Given the description of an element on the screen output the (x, y) to click on. 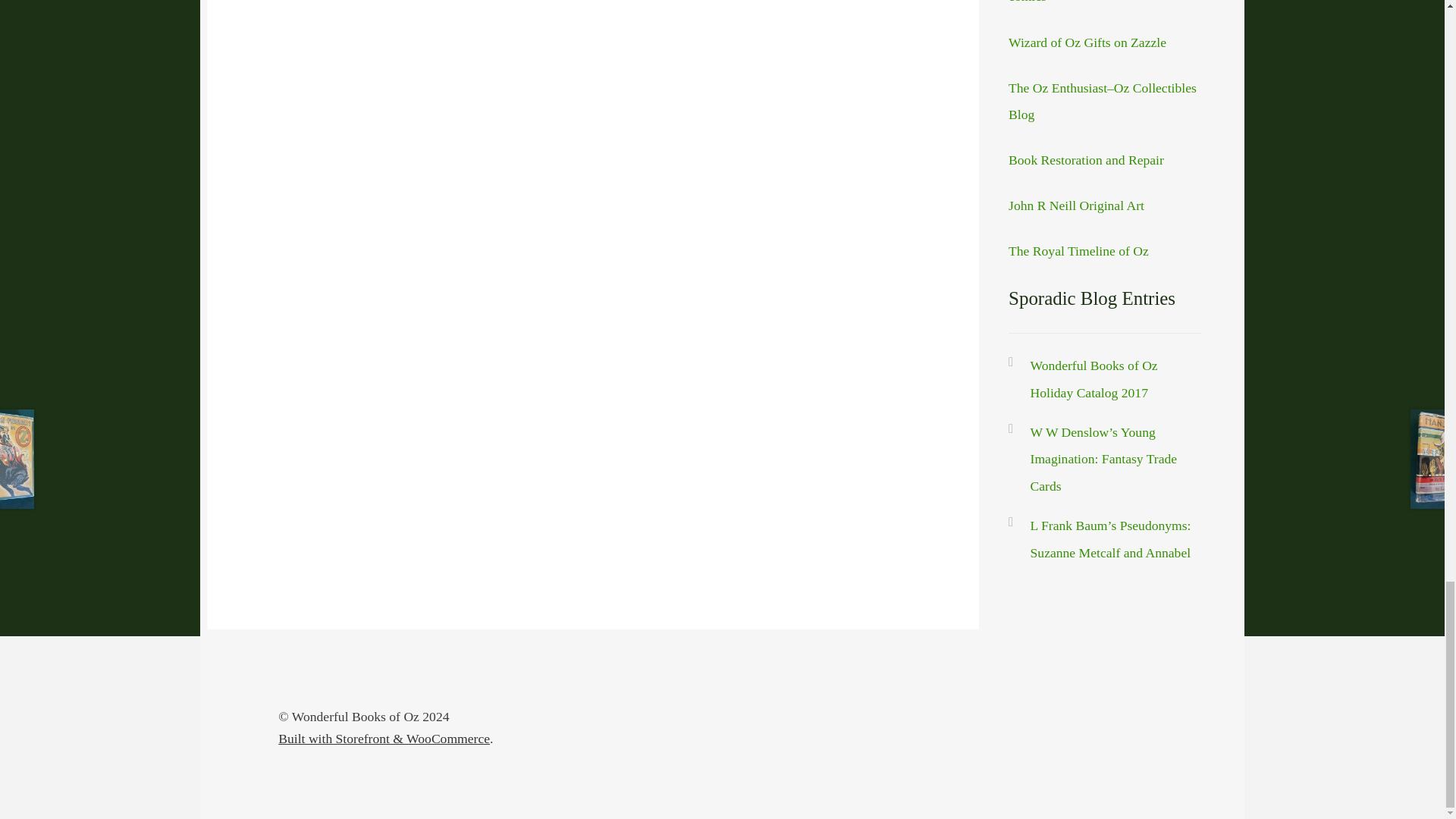
WooCommerce - The Best eCommerce Platform for WordPress (383, 738)
